Given the description of an element on the screen output the (x, y) to click on. 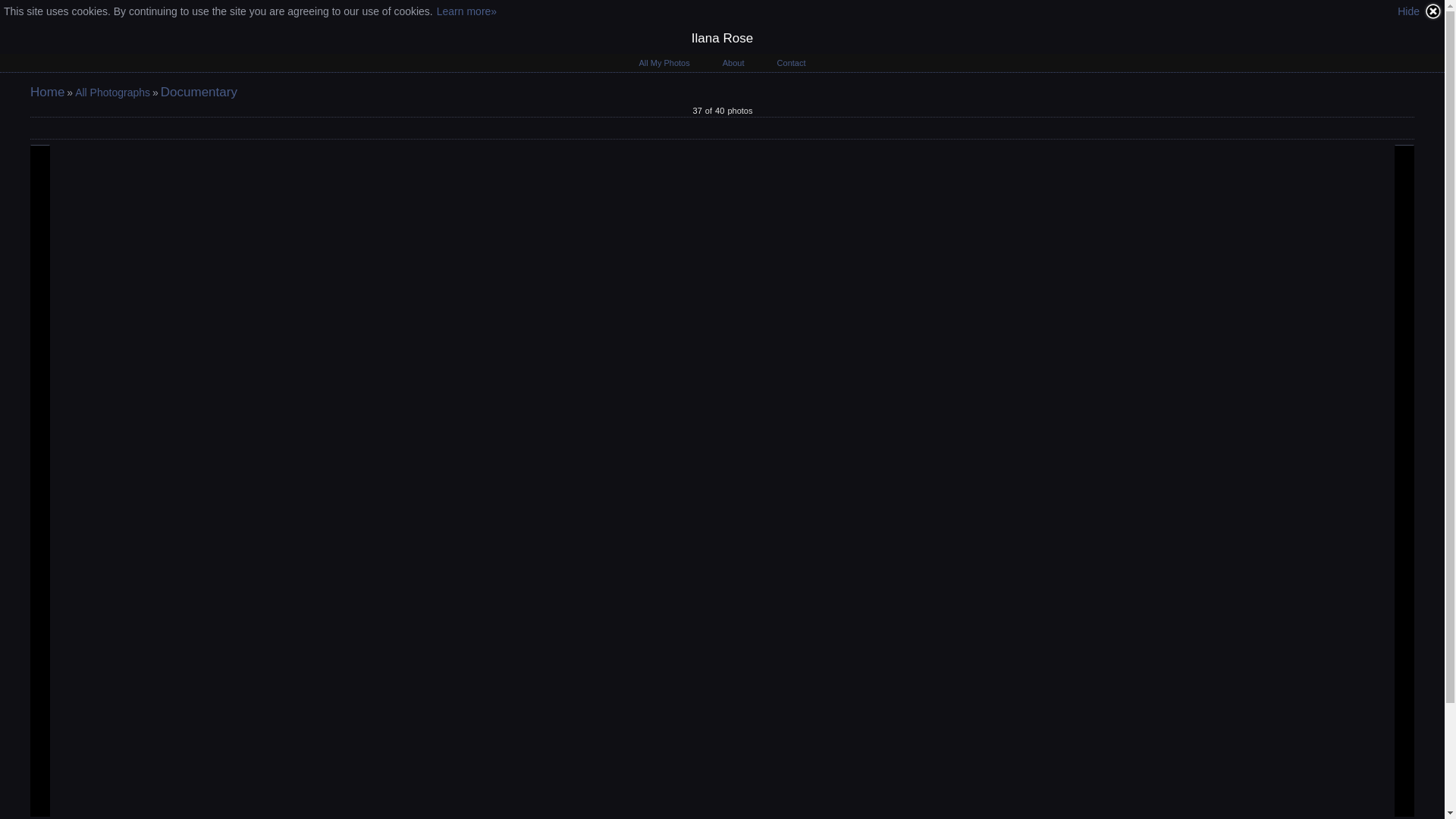
All My Photos Element type: text (663, 62)
Hide Element type: text (1419, 11)
Documentary Element type: text (198, 91)
Previous - type Left Arrow Element type: hover (40, 479)
Home Element type: text (47, 91)
All Photographs Element type: text (112, 92)
Contact Element type: text (791, 62)
About Element type: text (733, 62)
Next - type Right Arrow Element type: hover (1404, 479)
Ilana Rose Element type: text (722, 38)
